Given the description of an element on the screen output the (x, y) to click on. 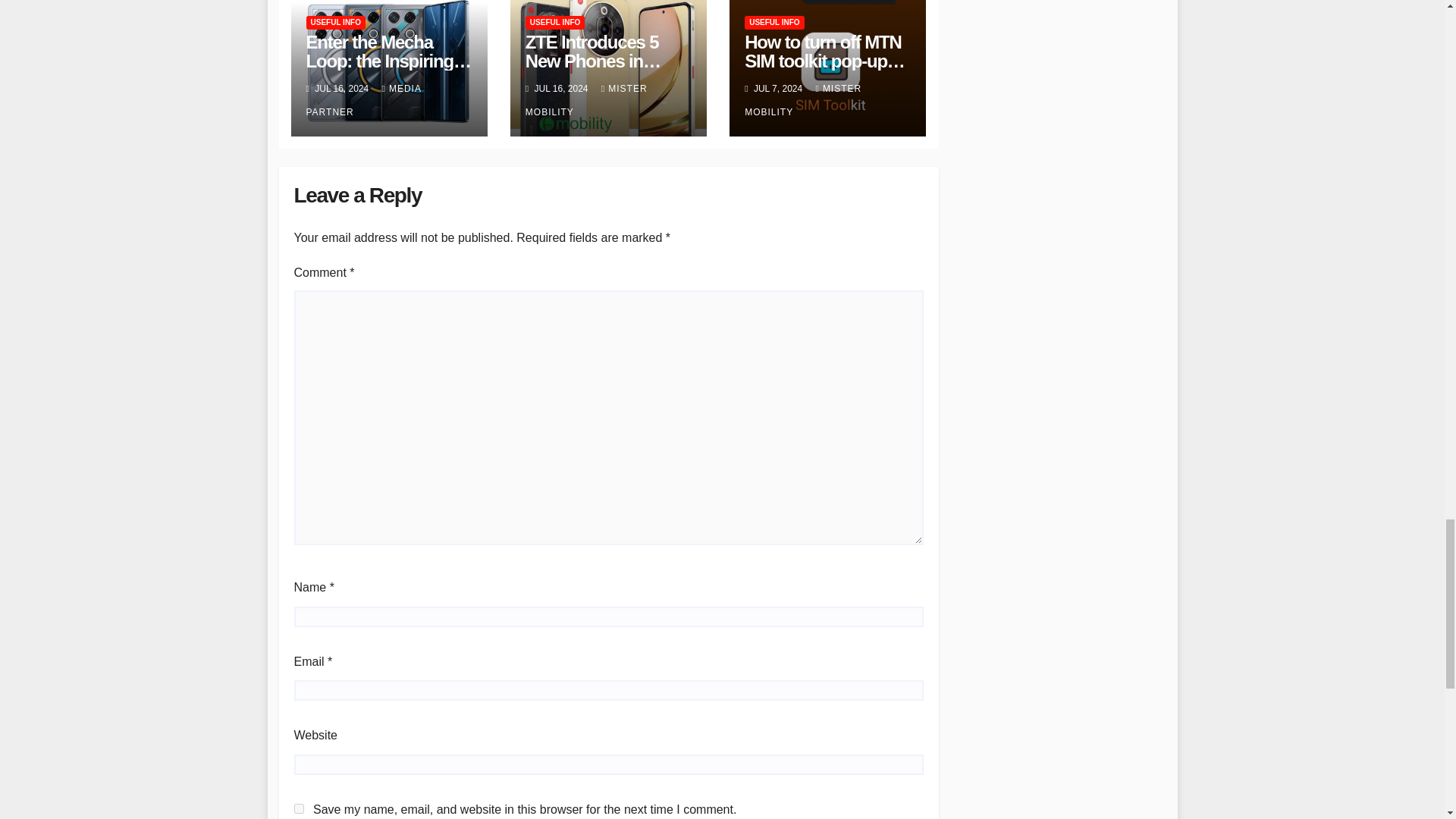
yes (299, 808)
